Given the description of an element on the screen output the (x, y) to click on. 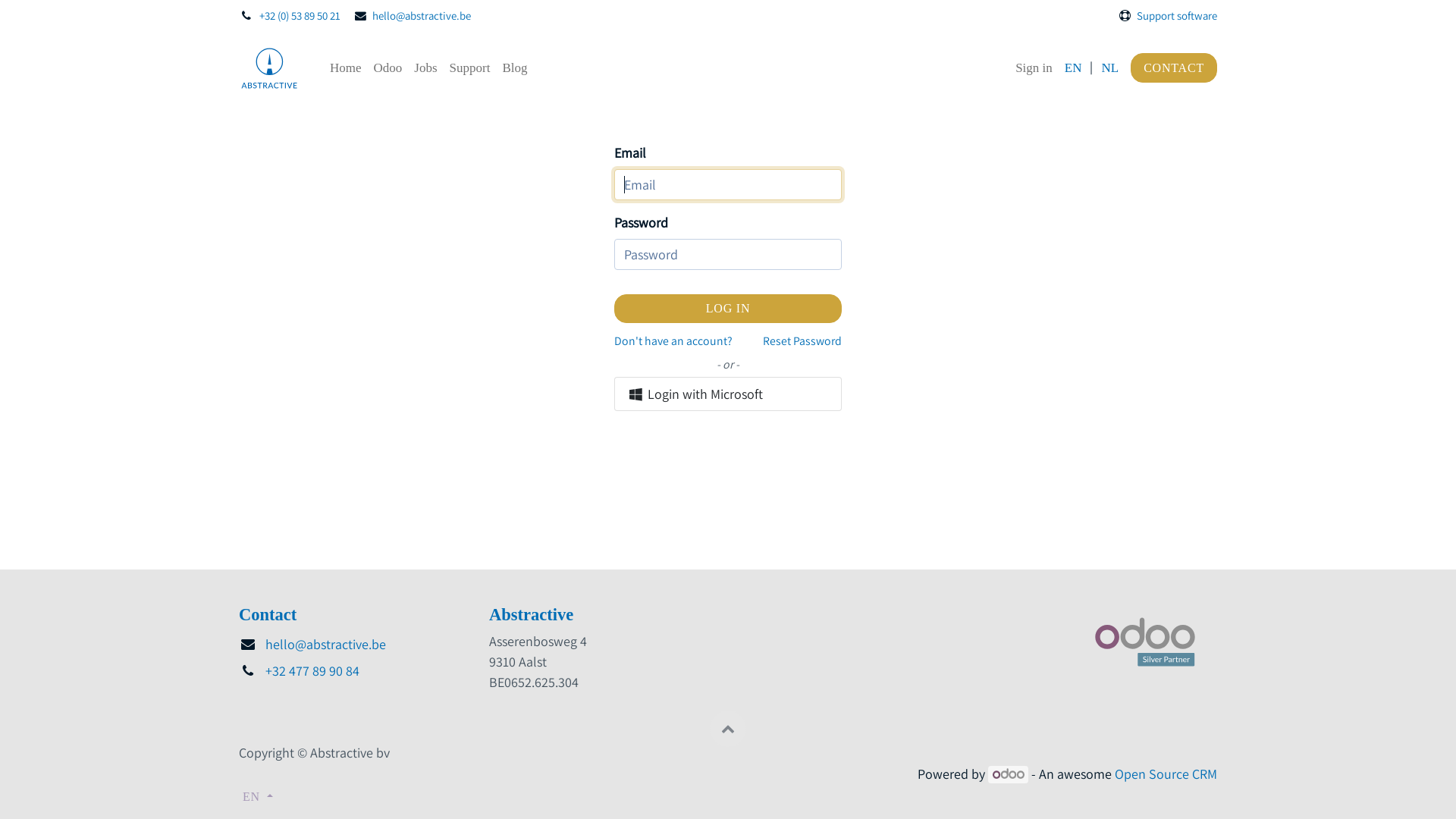
Support software Element type: text (1176, 15)
+32 477 89 90 84 Element type: text (312, 670)
EN Element type: text (1073, 67)
Login with Microsoft Element type: text (727, 393)
Support Element type: text (469, 68)
Sign in Element type: text (1033, 68)
Blog Element type: text (514, 68)
Odoo Element type: text (387, 68)
Home Element type: text (345, 68)
Don't have an account? Element type: text (673, 341)
Abstractive Element type: hover (268, 67)
Jobs Element type: text (424, 68)
Reset Password Element type: text (801, 341)
Contact Element type: text (267, 614)
+32 (0) 53 89 50 21 Element type: text (299, 15)
hello@abstractive.be Element type: text (421, 15)
CONTACT Element type: text (1173, 67)
LOG IN Element type: text (727, 308)
Open Source CRM Element type: text (1165, 773)
EN Element type: text (257, 796)
hello@abstractive.be Element type: text (325, 643)
NL Element type: text (1109, 67)
